Given the description of an element on the screen output the (x, y) to click on. 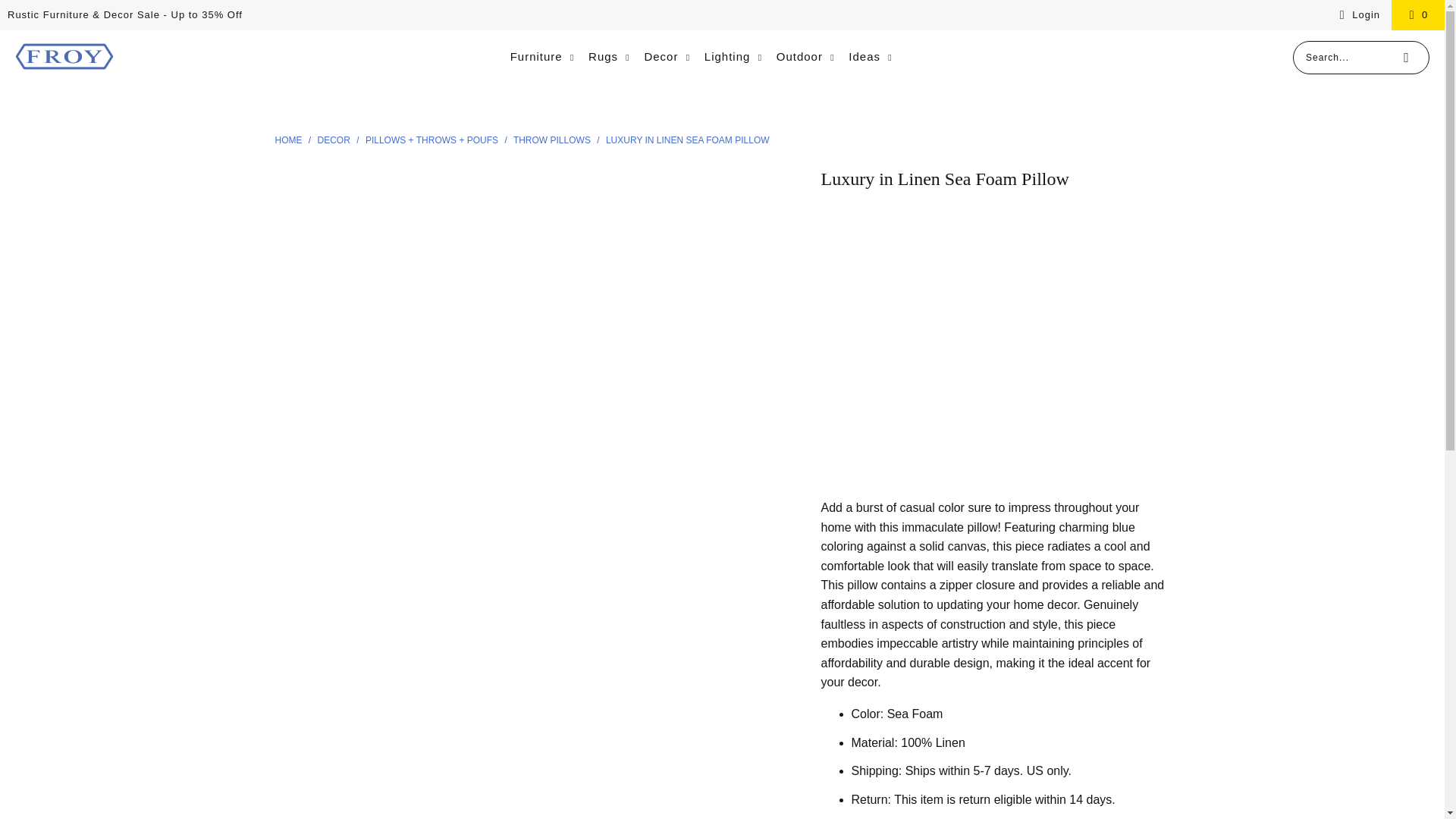
Froy.com (63, 57)
My Account  (1357, 14)
Decor (335, 140)
Throw Pillows (552, 140)
Froy.com (289, 140)
